Given the description of an element on the screen output the (x, y) to click on. 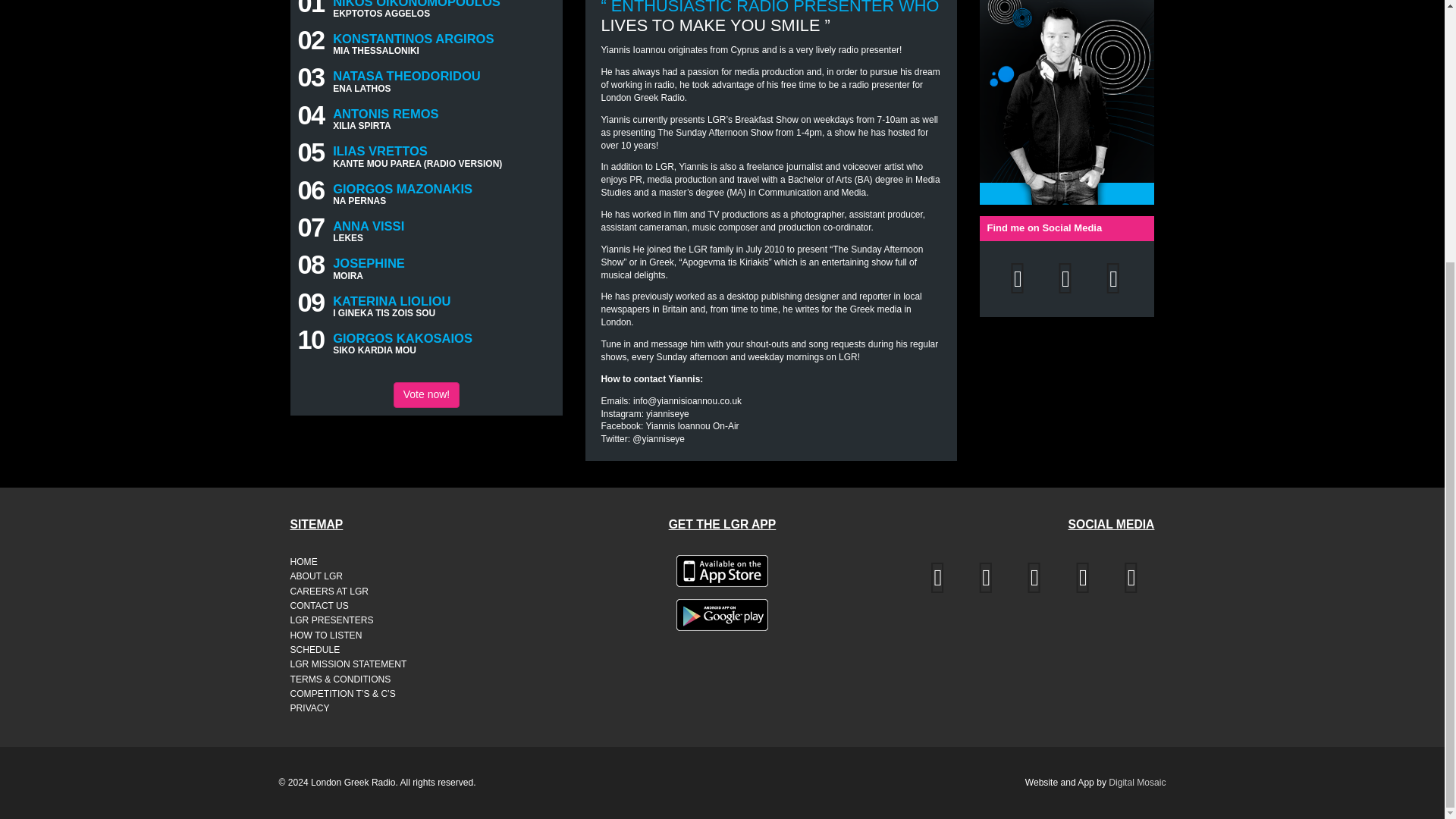
Get the LGR iOS app from the Apple App Store (722, 571)
CAREERS AT LGR (355, 591)
HOME (355, 562)
ABOUT LGR (355, 576)
Get the LGR Android app from the Google Play Store (722, 614)
Vote now! (426, 394)
